Given the description of an element on the screen output the (x, y) to click on. 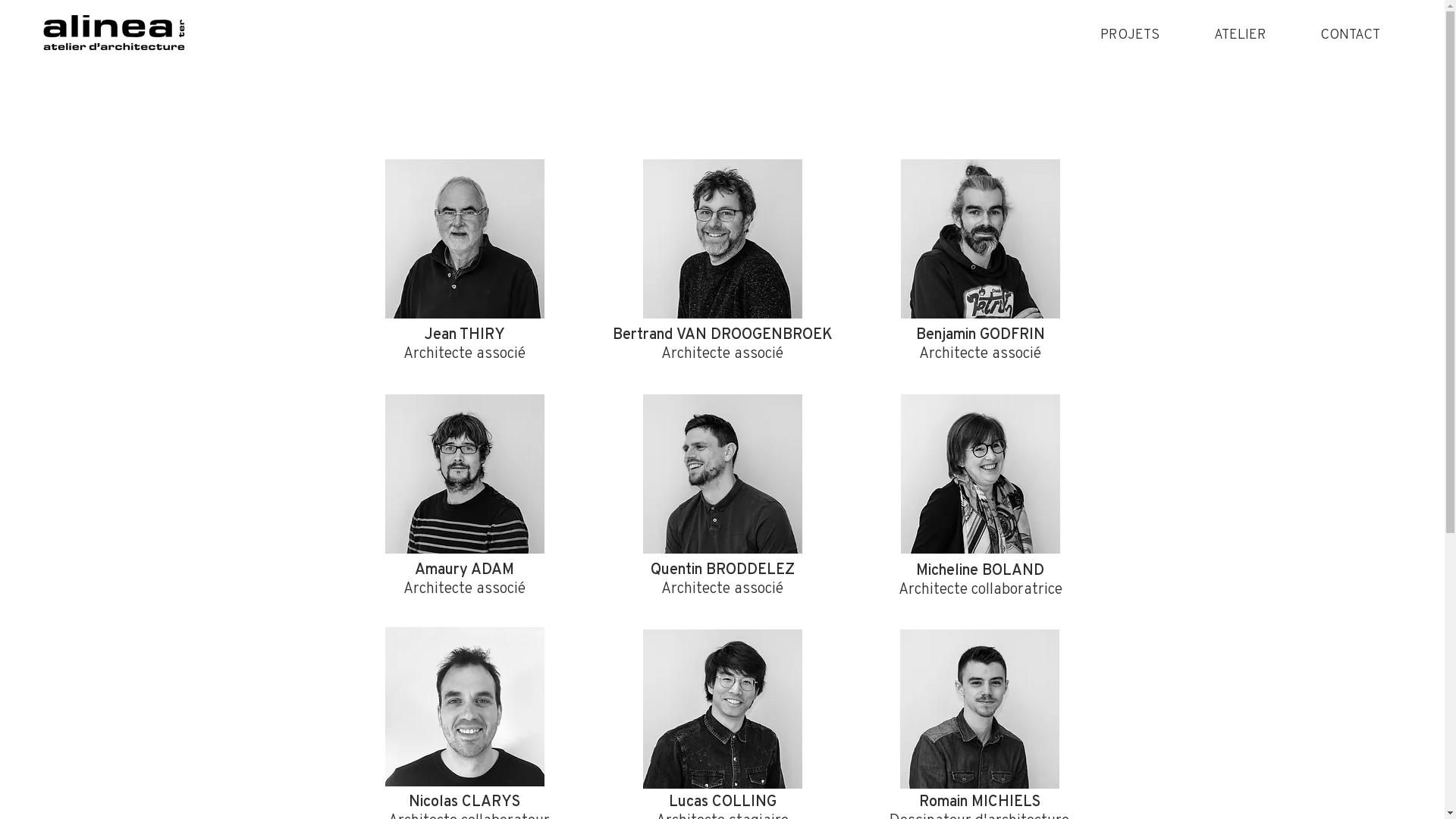
CONTACT Element type: text (1349, 33)
